Given the description of an element on the screen output the (x, y) to click on. 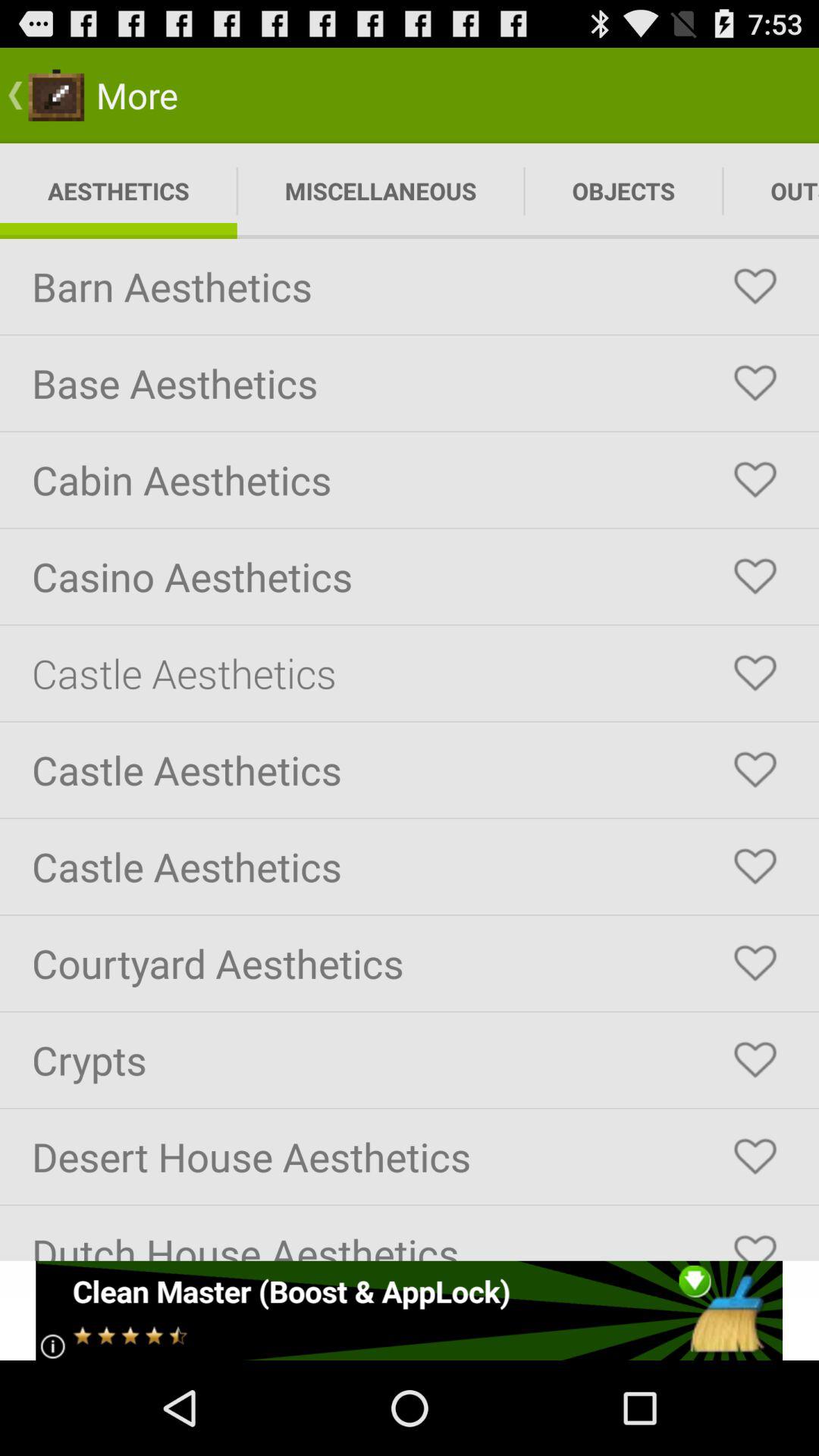
add to favorites (755, 576)
